Given the description of an element on the screen output the (x, y) to click on. 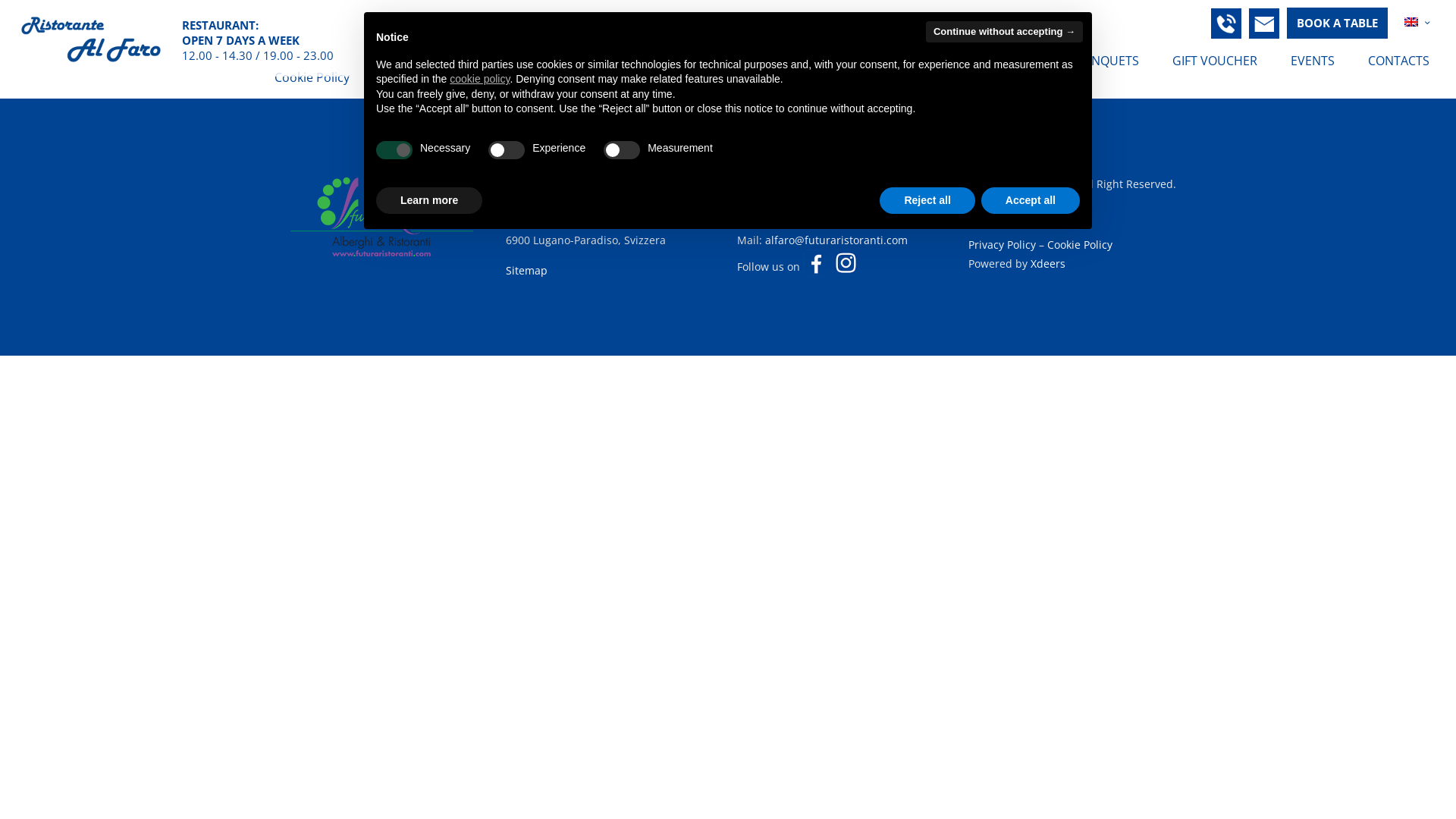
Privacy Policy Element type: text (1001, 244)
CONTACTS Element type: text (1398, 60)
+41(0)919809928 Element type: text (800, 220)
BOOK A TABLE Element type: text (1336, 22)
MENU Element type: text (1024, 60)
BANQUETS Element type: text (1107, 60)
Cookie Policy Element type: text (1079, 244)
Sitemap Element type: text (526, 270)
Reject all Element type: text (926, 200)
GIFT VOUCHER Element type: text (1214, 60)
alfaro@futuraristoranti.com Element type: text (836, 239)
Xdeers Element type: text (1047, 263)
cookie policy Element type: text (479, 78)
HOME Element type: text (955, 60)
Learn more Element type: text (429, 200)
Cookie Policy Element type: text (311, 77)
Restaurant Al Faro Lugano Element type: hover (90, 37)
EVENTS Element type: text (1312, 60)
Accept all Element type: text (1030, 200)
